Given the description of an element on the screen output the (x, y) to click on. 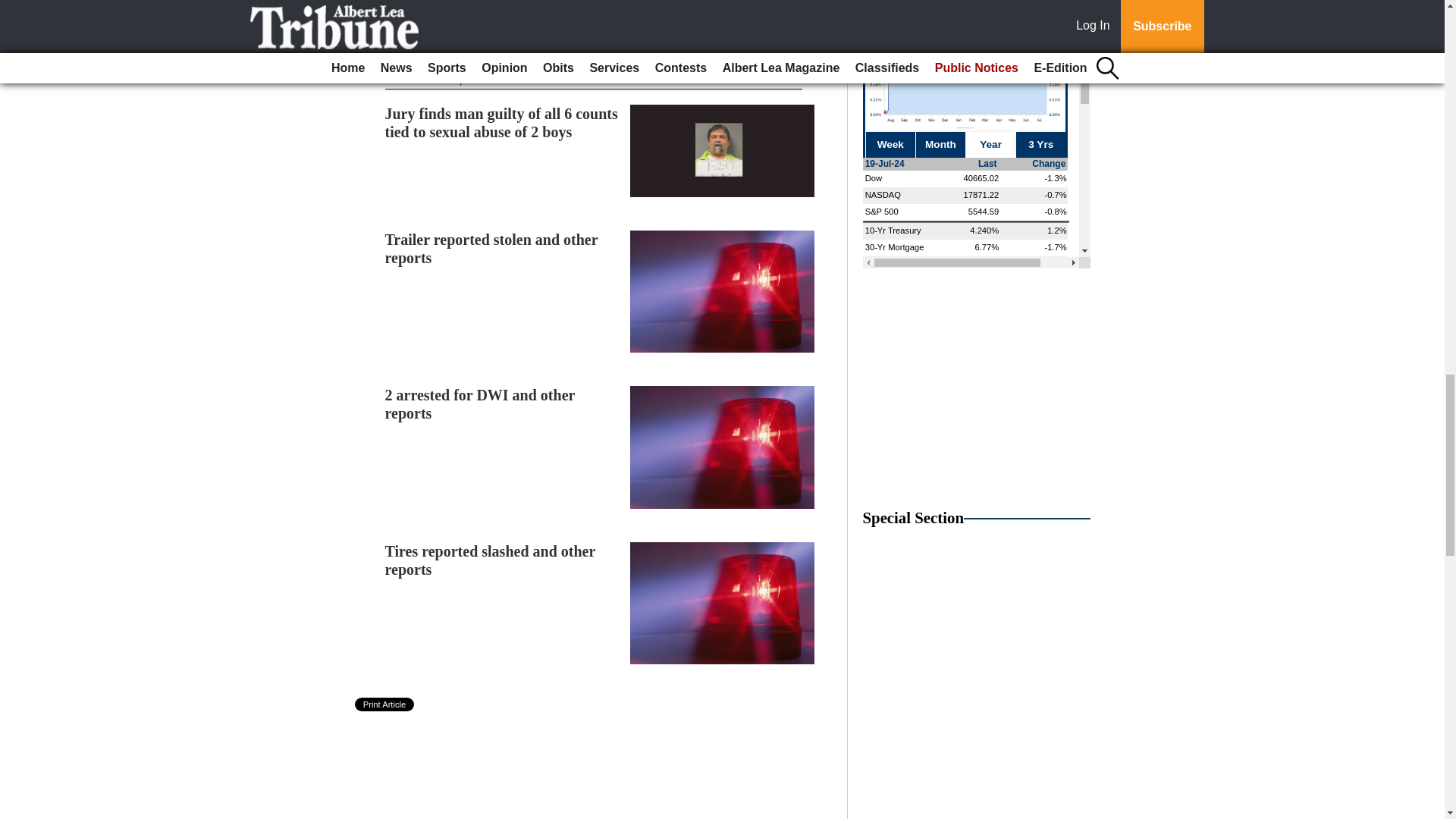
Tires reported slashed and other reports (490, 560)
Trailer reported stolen and other reports (491, 248)
2 arrested for DWI and other reports (480, 403)
